Given the description of an element on the screen output the (x, y) to click on. 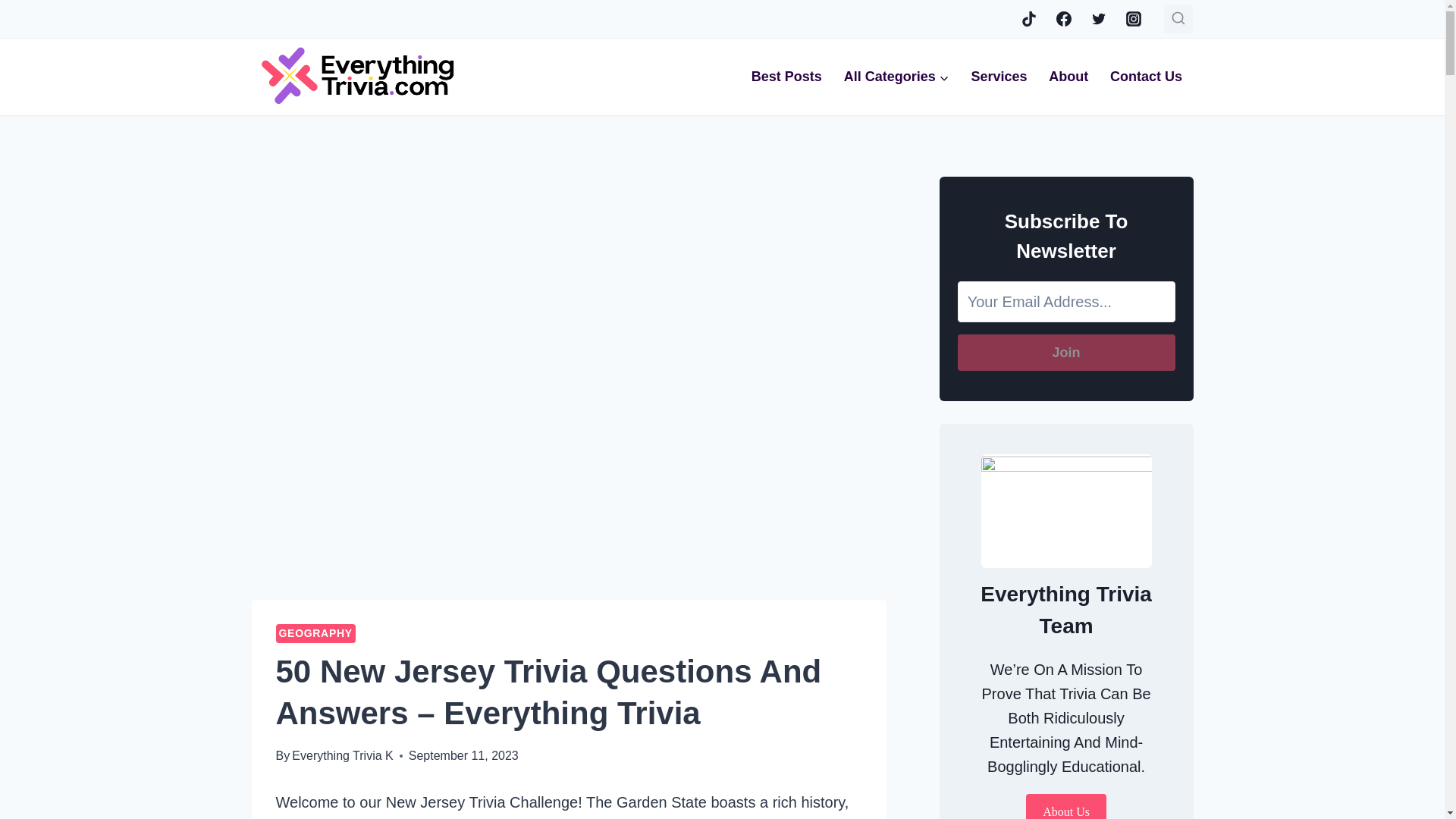
Contact Us (1146, 76)
Everything Trivia K (342, 755)
Best Posts (785, 76)
Services (998, 76)
About (1068, 76)
All Categories (895, 76)
GEOGRAPHY (315, 633)
